Given the description of an element on the screen output the (x, y) to click on. 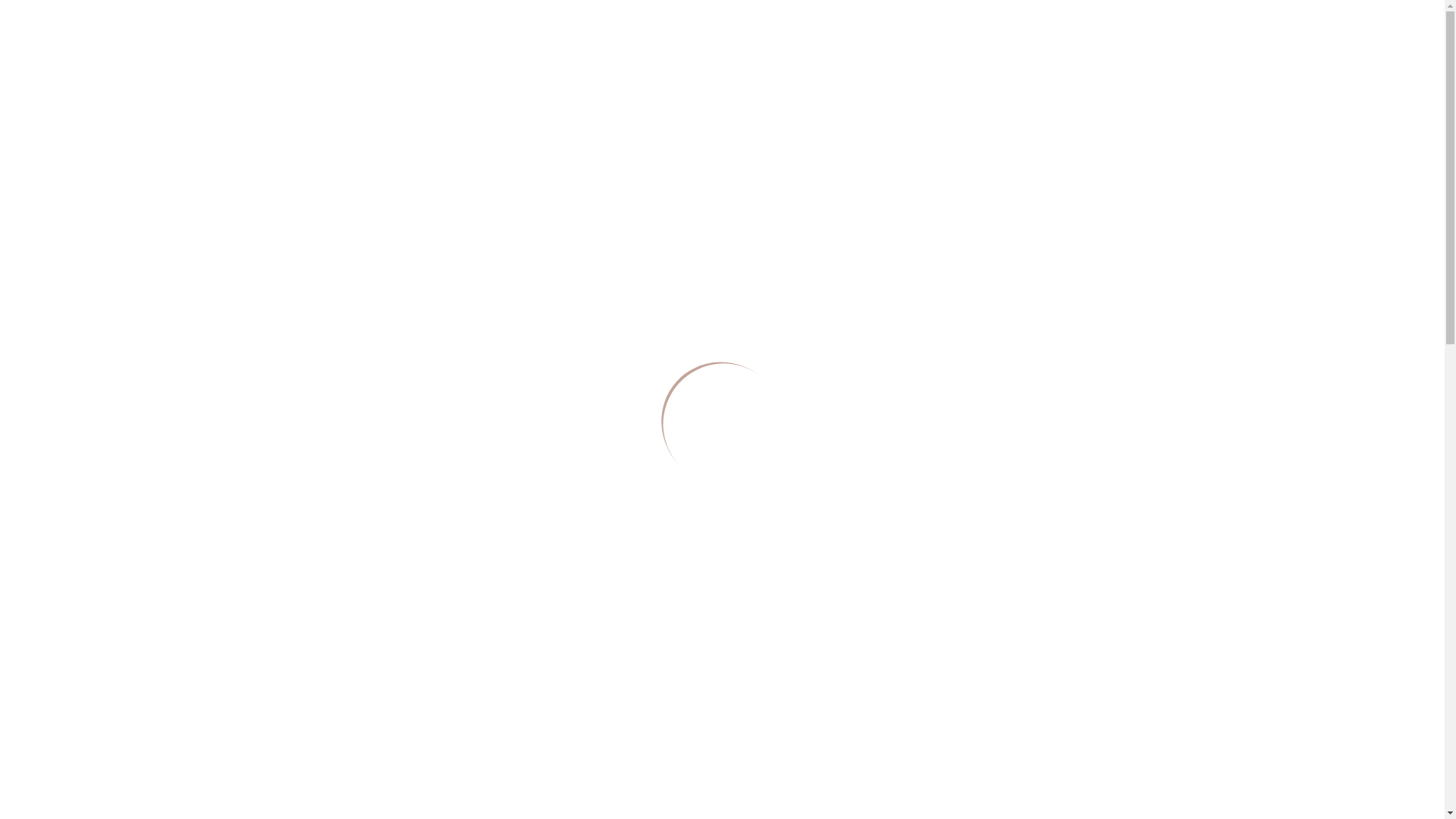
home Element type: text (48, 79)
meet us Element type: text (55, 107)
about Element type: text (48, 93)
EV Financial | Mortgage Brokers Melbourne, Australia Element type: hover (58, 40)
contact us Element type: text (1327, 43)
meet us Element type: text (1157, 43)
contact us Element type: text (62, 122)
about Element type: text (1002, 43)
